Given the description of an element on the screen output the (x, y) to click on. 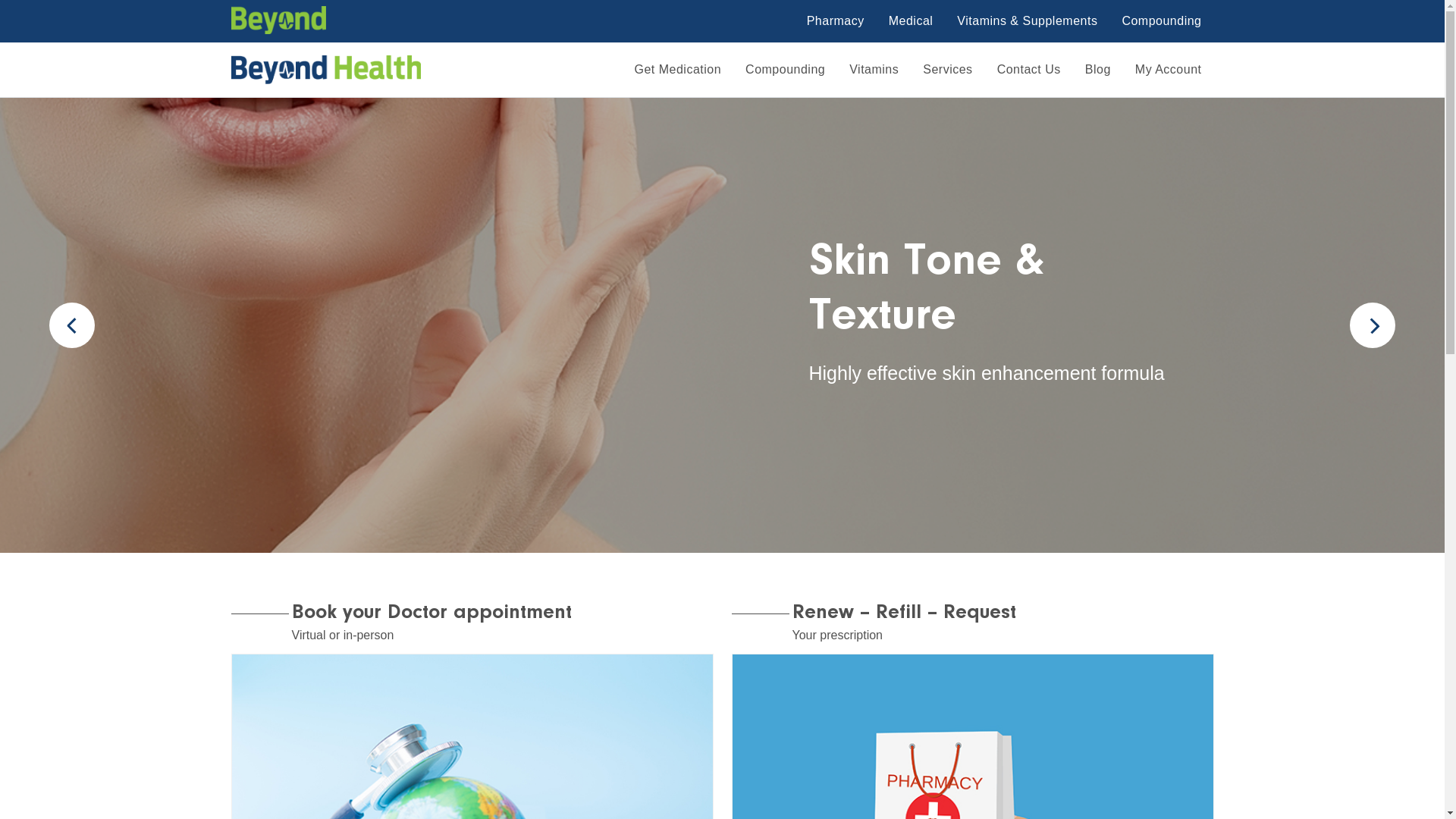
Start Now Element type: text (844, 415)
My Account Element type: text (1168, 69)
Get Medication Element type: text (677, 69)
Compounding Element type: text (785, 69)
Book your Doctor appointment
Virtual or in-person Element type: text (471, 708)
Contact Us Element type: text (1029, 69)
Vitamins & Supplements Element type: text (1026, 21)
Medical Element type: text (910, 21)
Beyond Health Element type: text (270, 92)
Vitamins Element type: text (873, 69)
Pharmacy Element type: text (835, 21)
Blog Element type: text (1098, 69)
Compounding Element type: text (1161, 21)
Services Element type: text (947, 69)
